Given the description of an element on the screen output the (x, y) to click on. 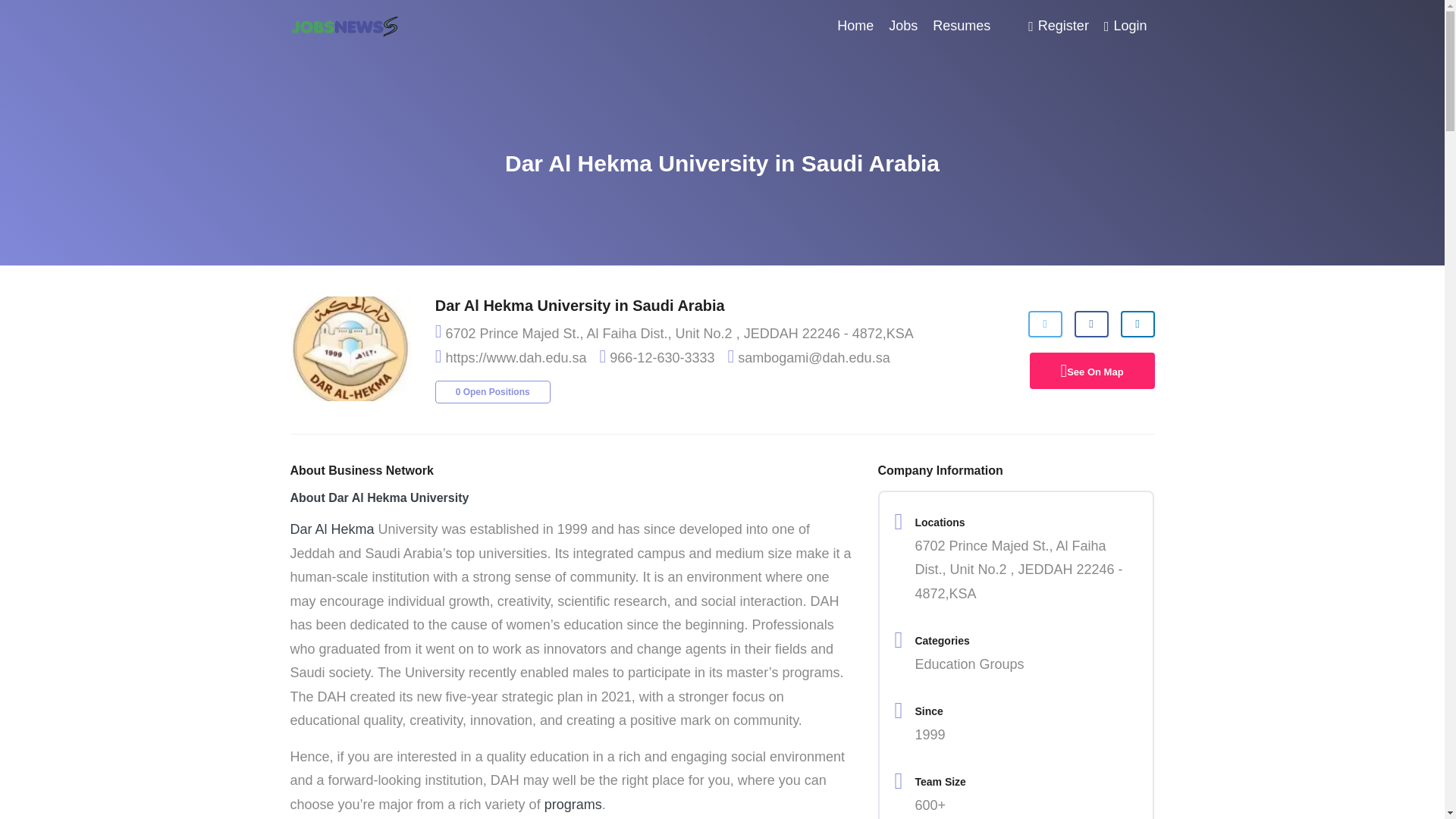
programs (573, 804)
Resumes (960, 26)
See On Map (1094, 371)
Home (854, 26)
Education Groups (968, 663)
Login (1125, 26)
Jobs (902, 26)
Register (1058, 26)
